Given the description of an element on the screen output the (x, y) to click on. 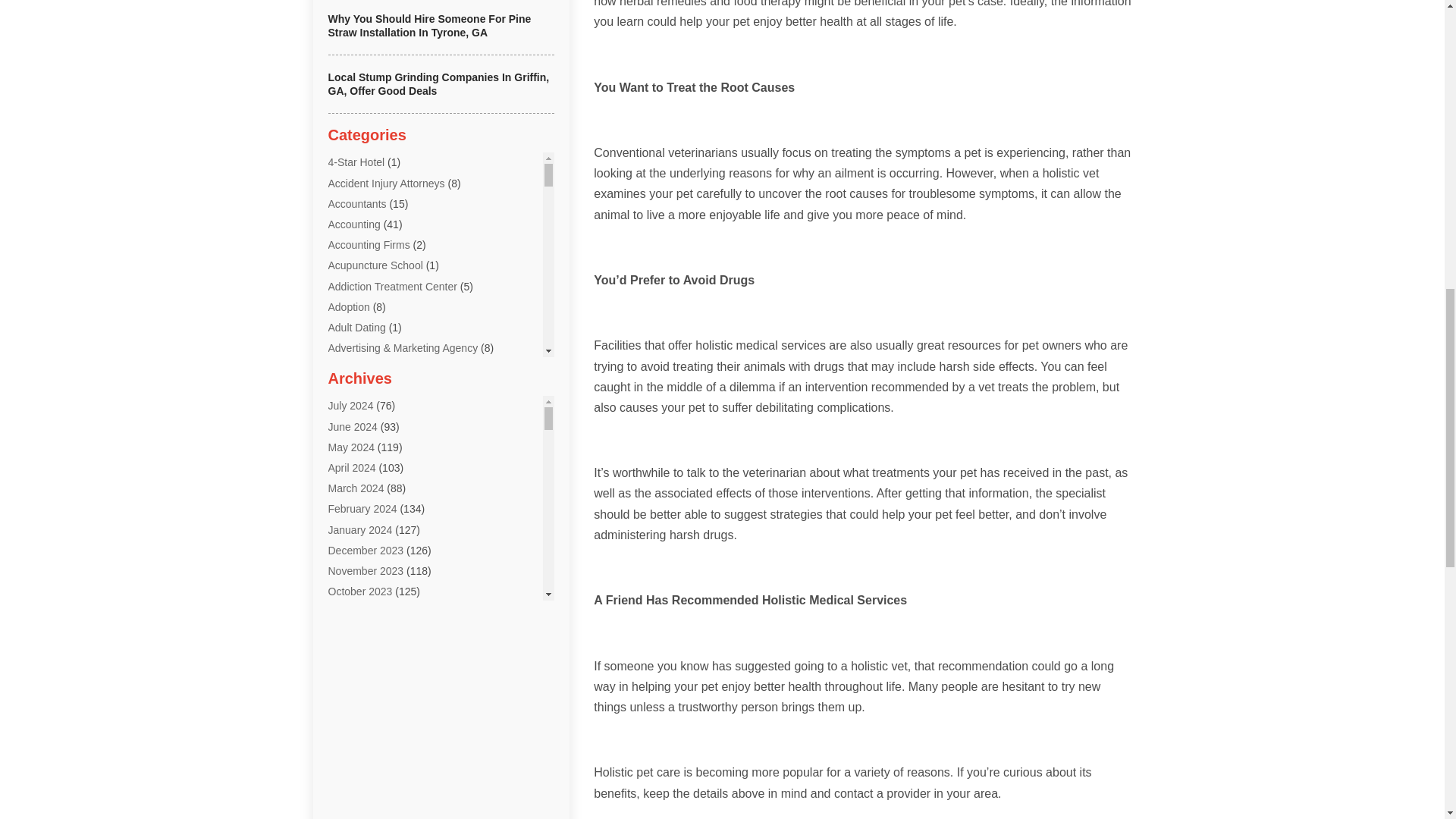
Accounting (353, 224)
Agronomy (351, 451)
Agricultural Service (373, 388)
Advertising Agency (372, 368)
Adult Dating (356, 327)
Adoption (348, 306)
Agriculture And Forestry (384, 430)
Accident Injury Attorneys (385, 183)
Addiction Treatment Center (392, 286)
Acupuncture School (374, 265)
Agriculture (352, 410)
Accounting Firms (368, 244)
4-Star Hotel (355, 162)
